Given the description of an element on the screen output the (x, y) to click on. 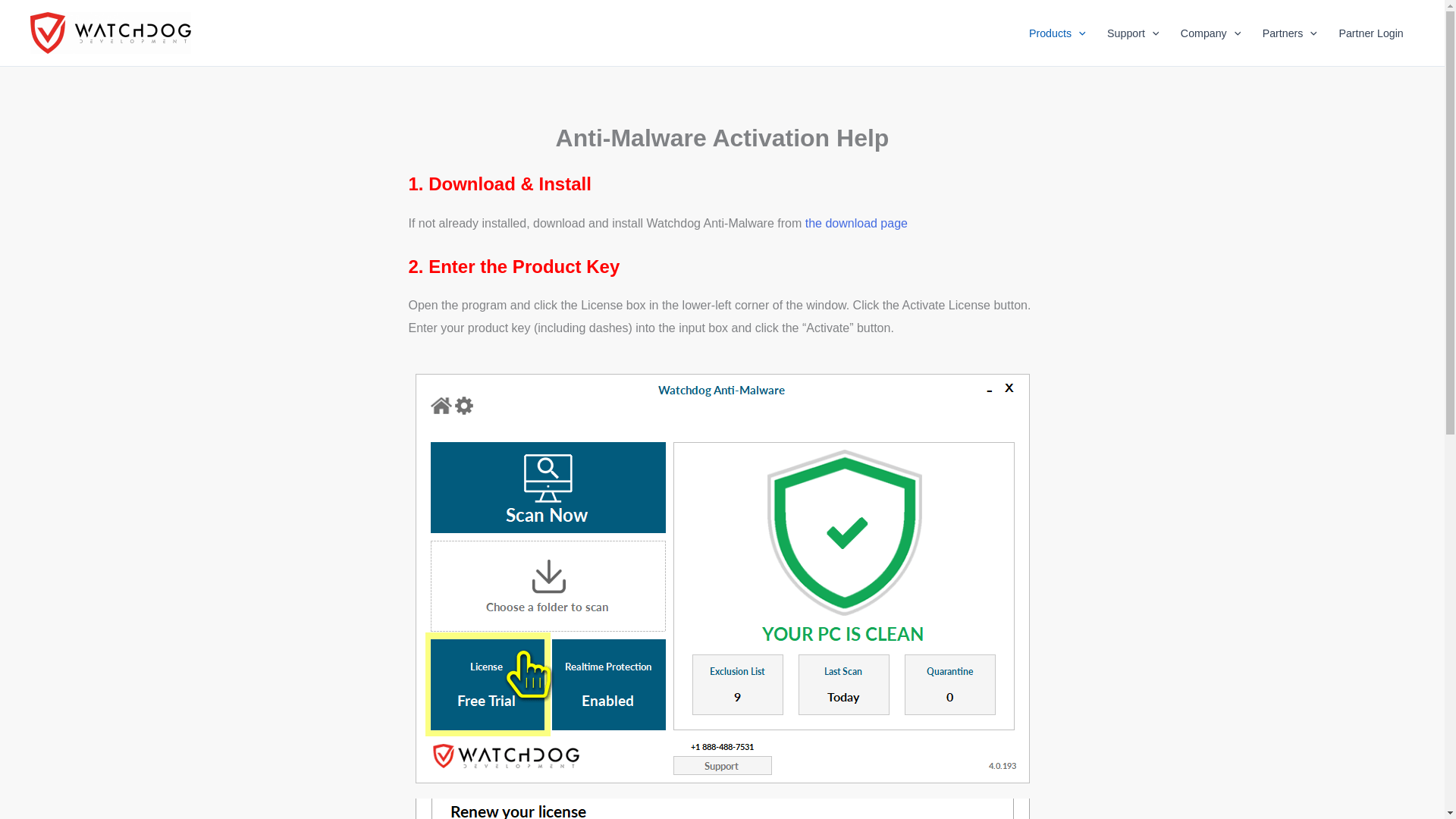
Partners (1288, 33)
Products (1056, 33)
Company (1211, 33)
Support (1133, 33)
Partner Login (1370, 33)
